Given the description of an element on the screen output the (x, y) to click on. 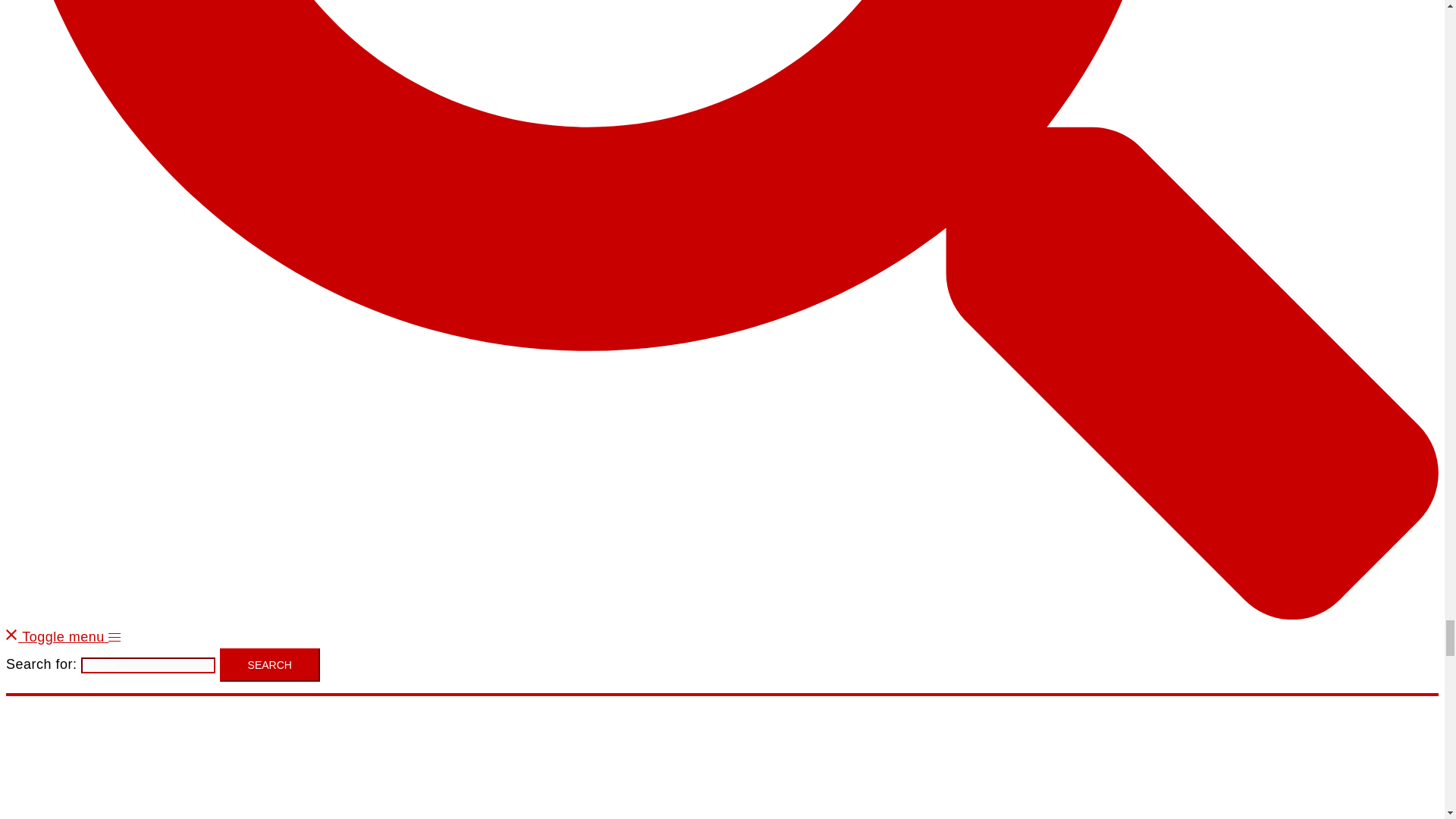
Toggle menu (70, 636)
Search (269, 664)
Search (269, 664)
Search (269, 664)
